Given the description of an element on the screen output the (x, y) to click on. 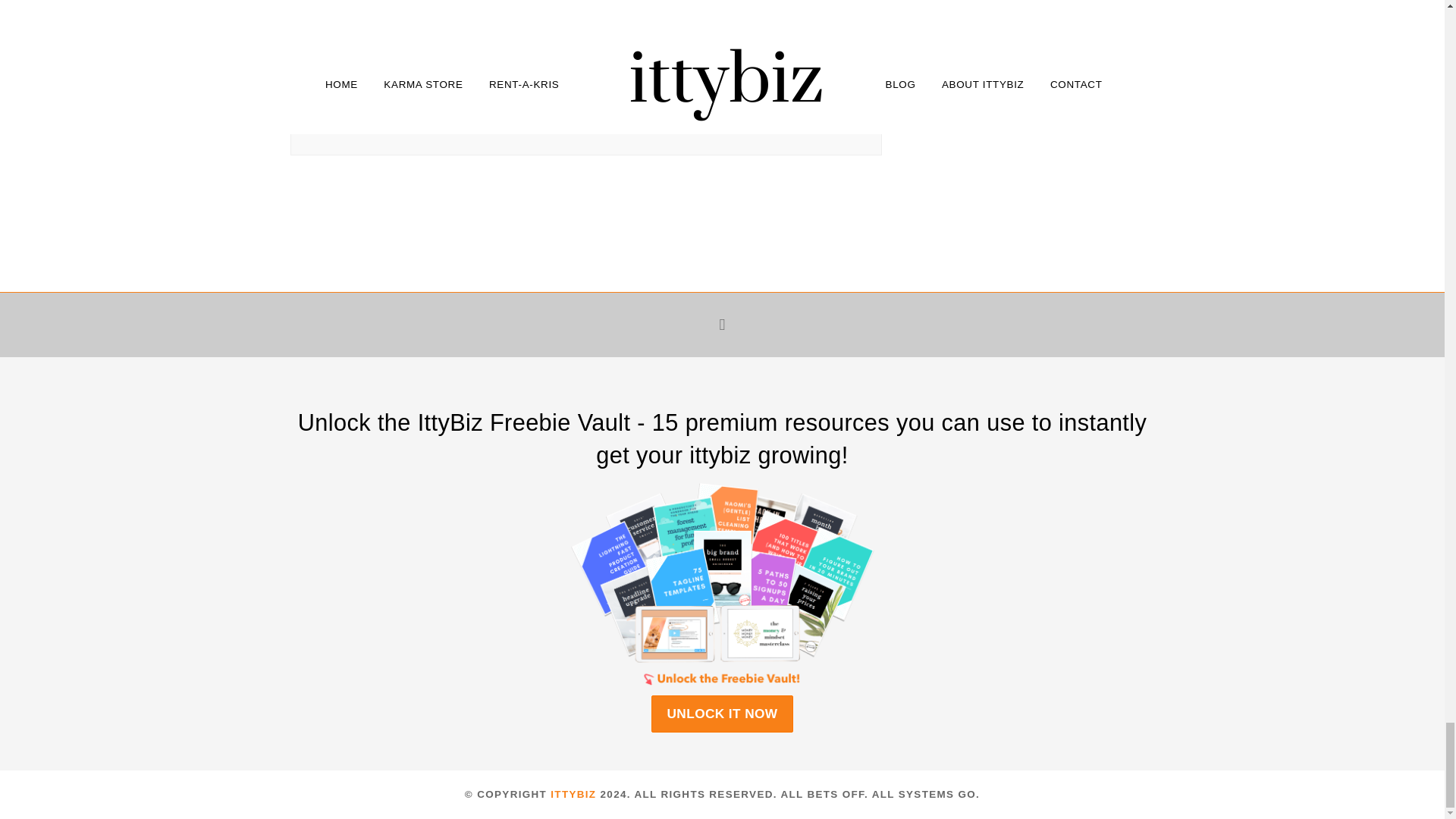
A Brief Guide To Doing What Works (433, 73)
